Given the description of an element on the screen output the (x, y) to click on. 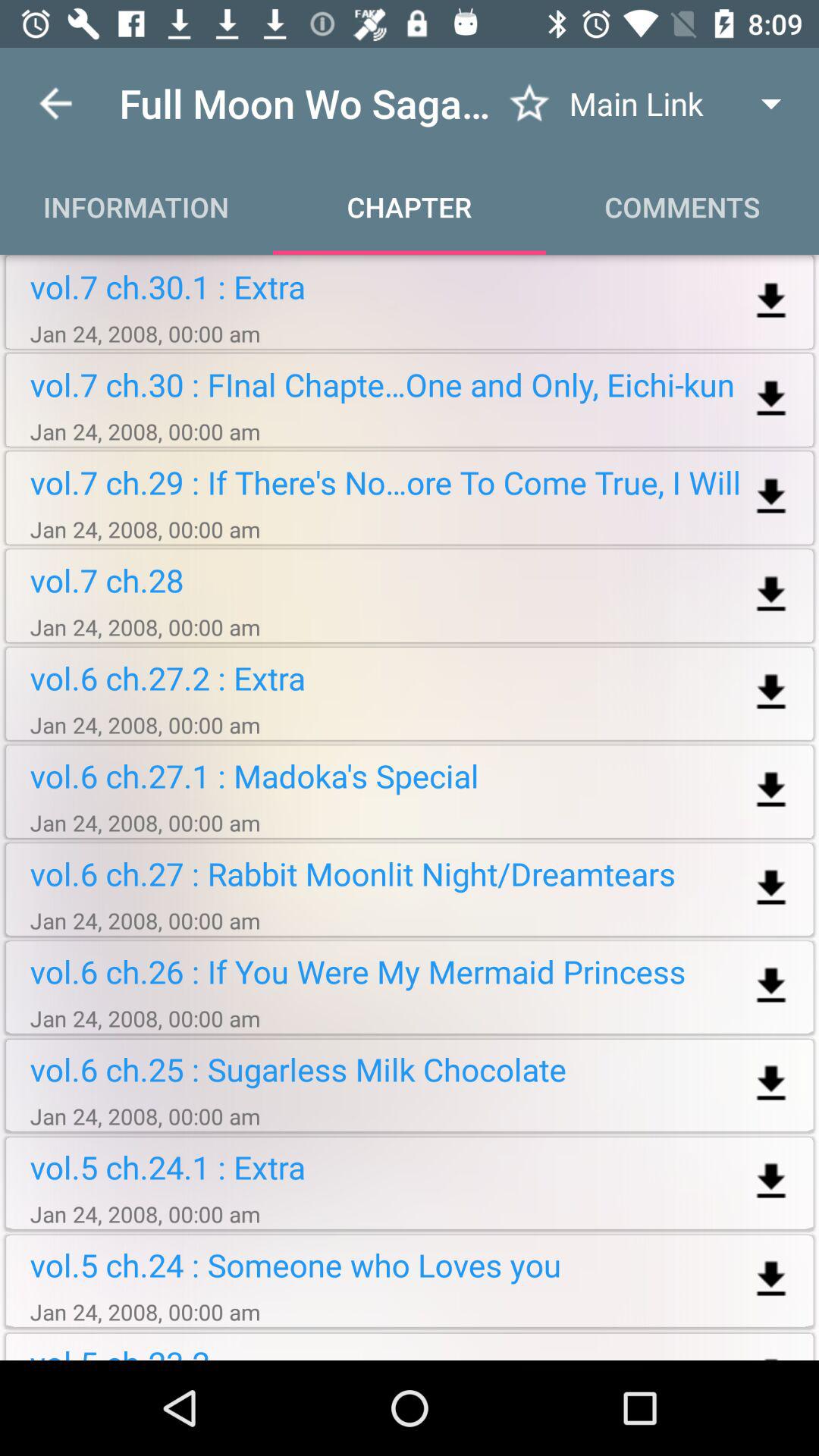
download chapter (771, 986)
